Given the description of an element on the screen output the (x, y) to click on. 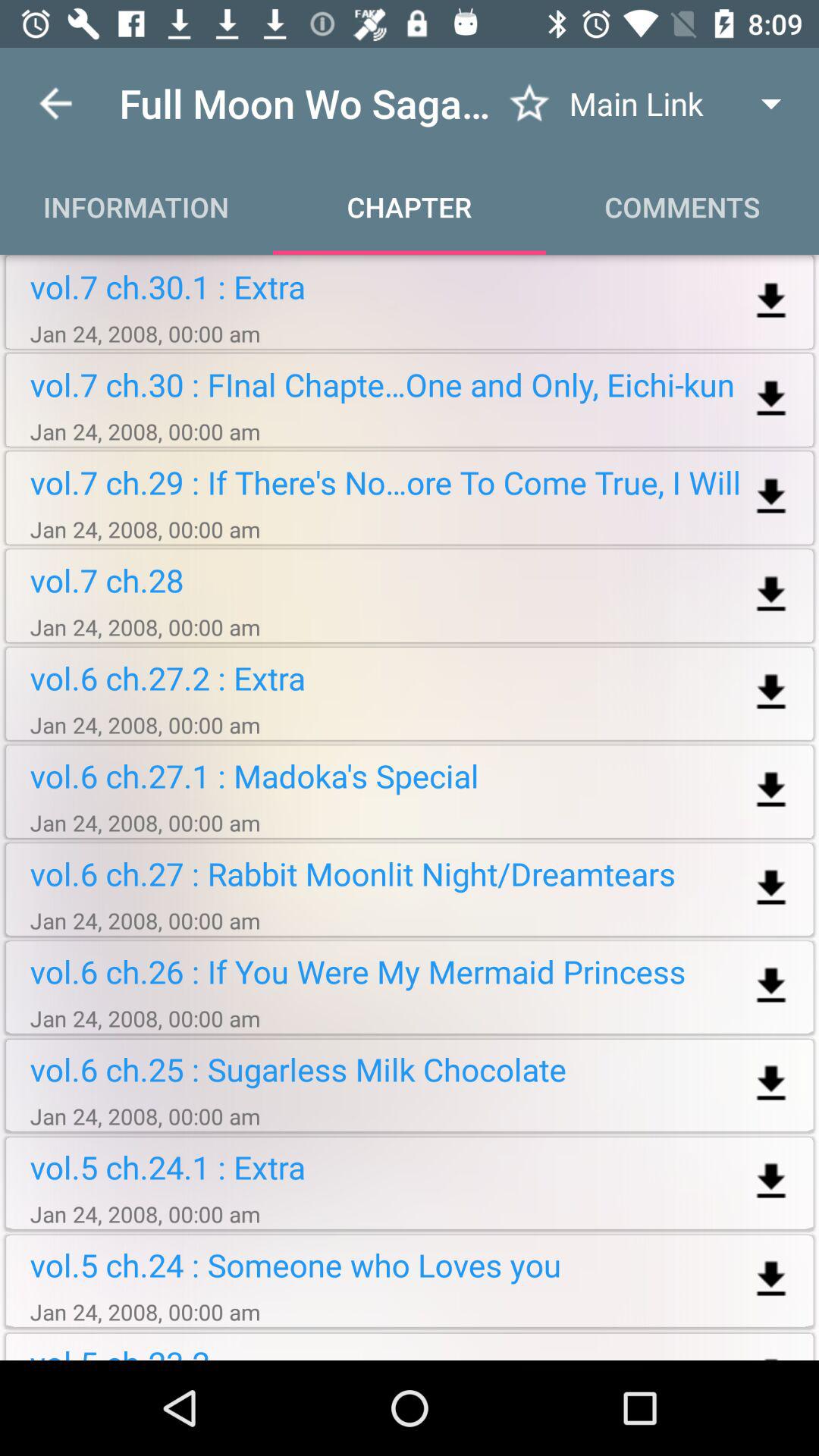
download chapter (771, 986)
